Given the description of an element on the screen output the (x, y) to click on. 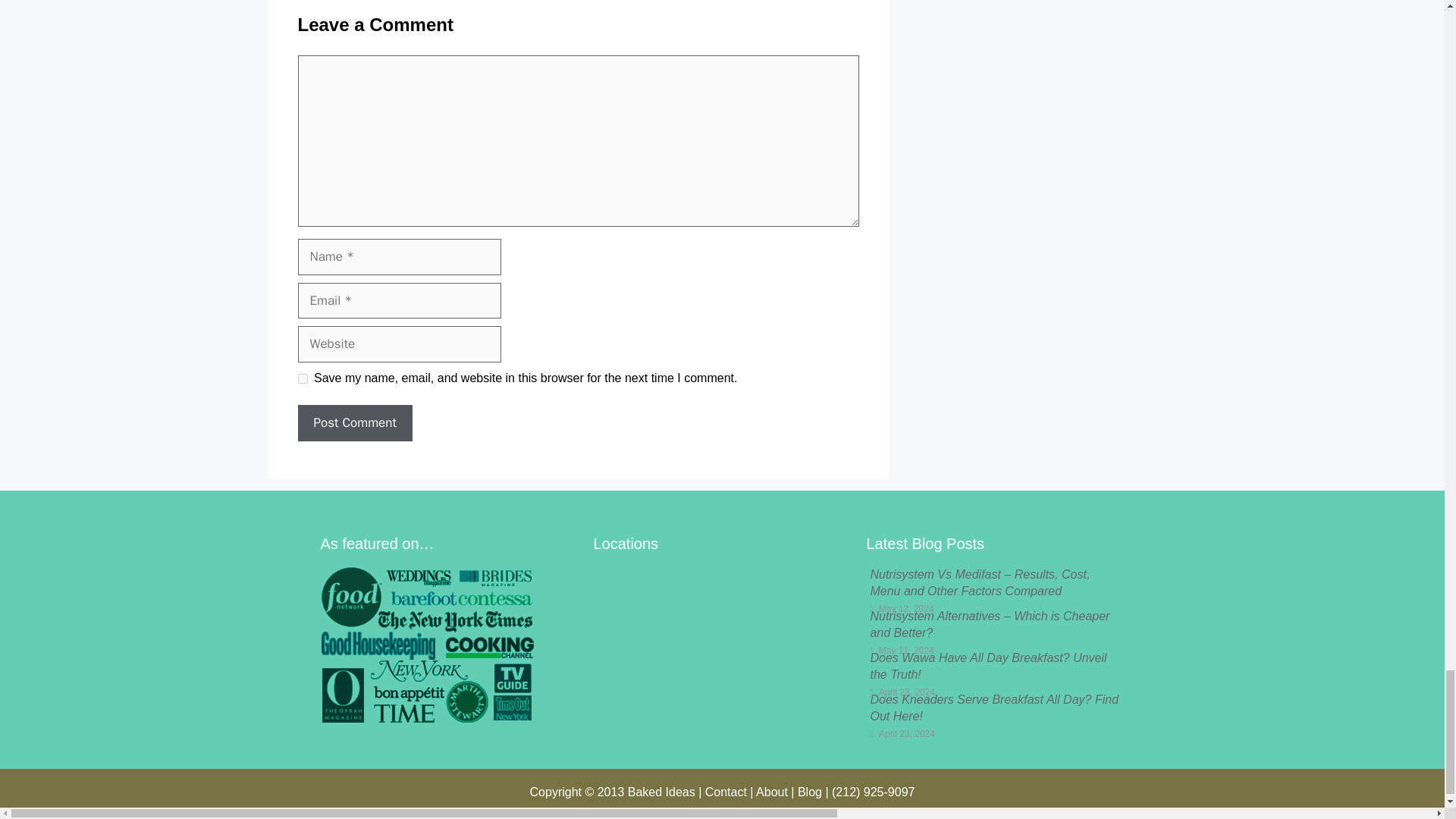
Post Comment (354, 422)
Does Kneaders Serve Breakfast All Day? Find Out Here! (993, 707)
London Eye, London, United Kingdom (721, 643)
yes (302, 378)
Baked Ideas (661, 791)
Does Wawa Have All Day Breakfast? Unveil the Truth! (987, 665)
